Given the description of an element on the screen output the (x, y) to click on. 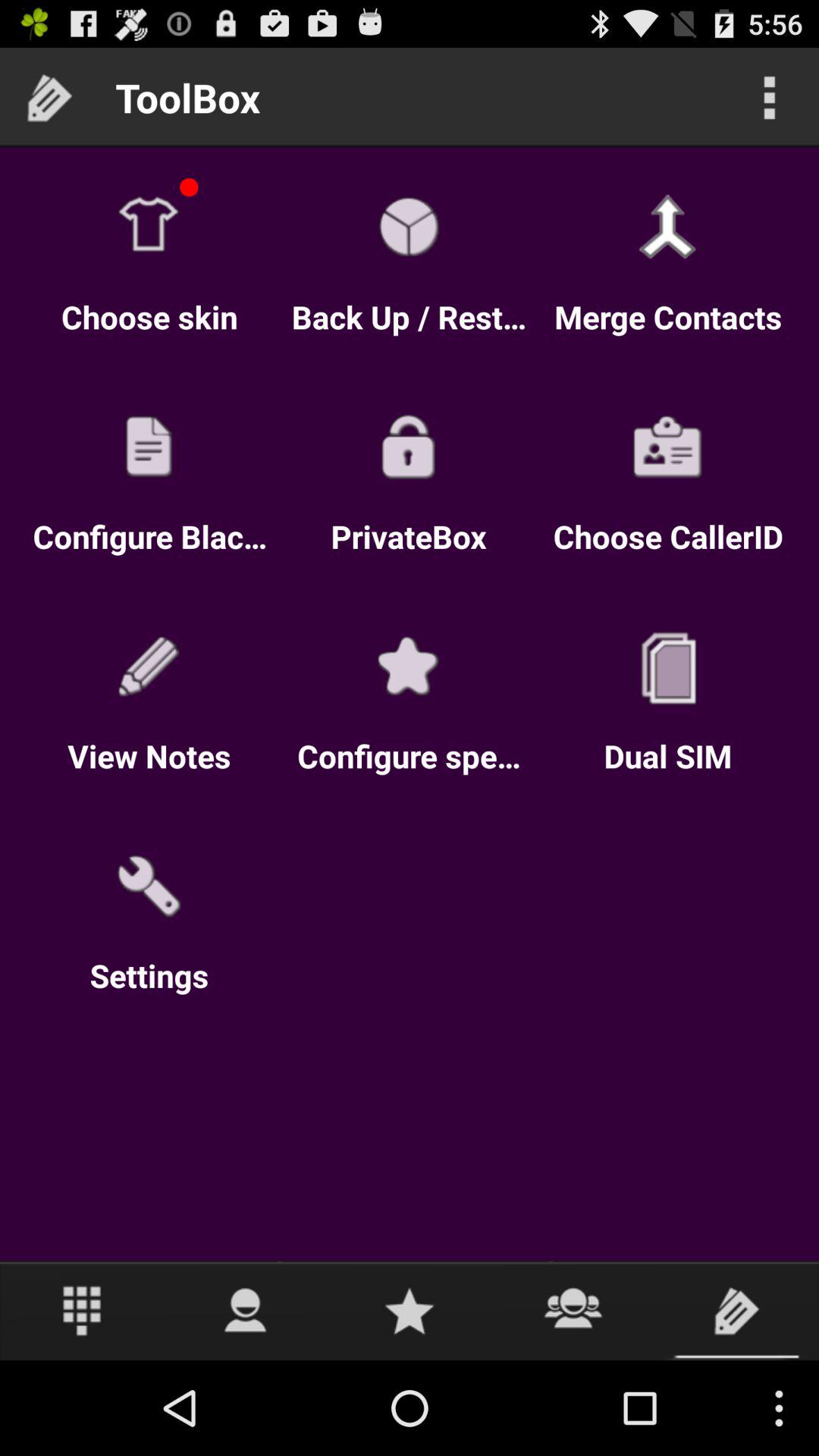
go to your profile (245, 1310)
